Given the description of an element on the screen output the (x, y) to click on. 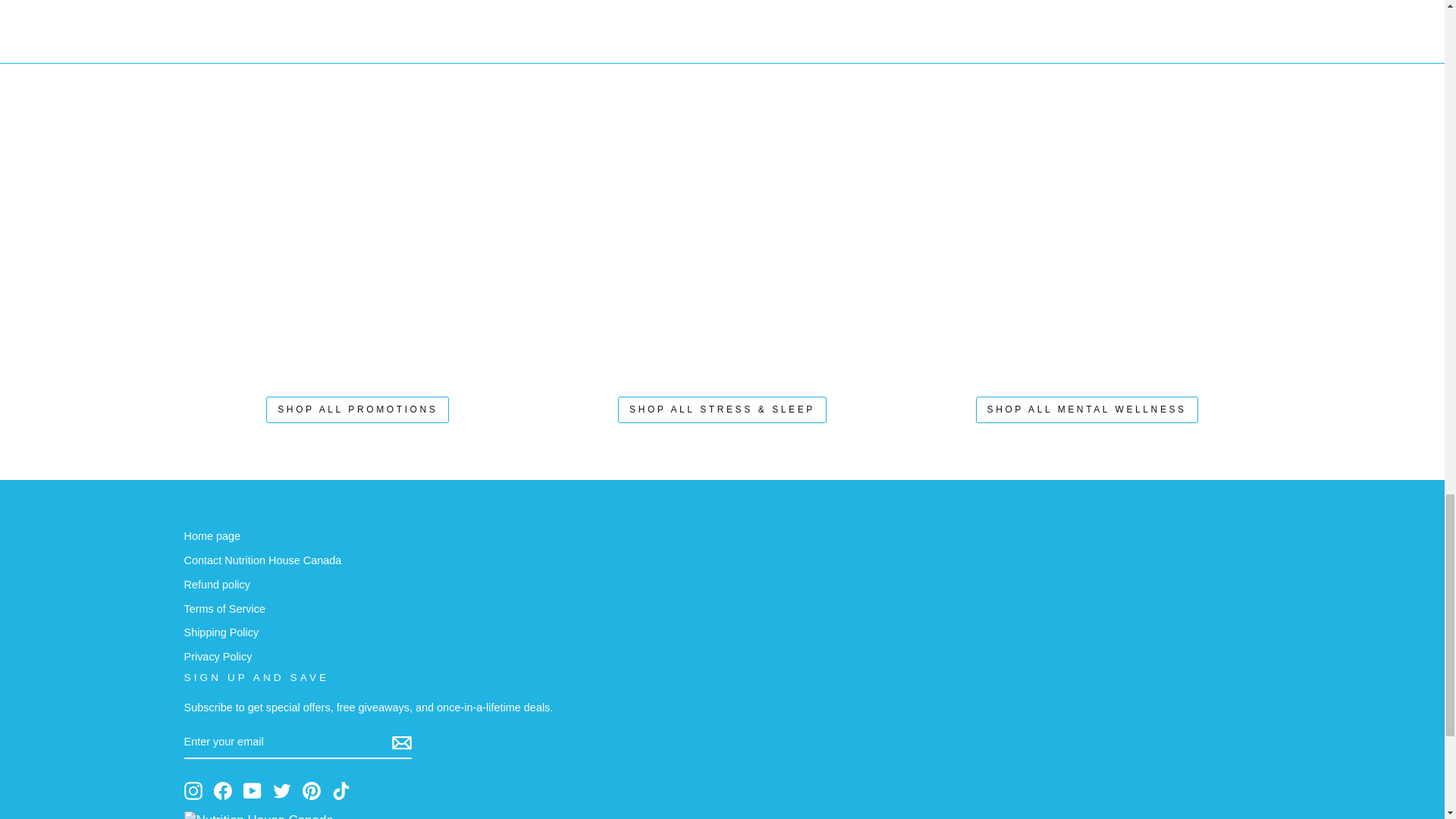
Nutrition House Canada on Instagram (192, 790)
Nutrition House Canada on Facebook (222, 790)
